Given the description of an element on the screen output the (x, y) to click on. 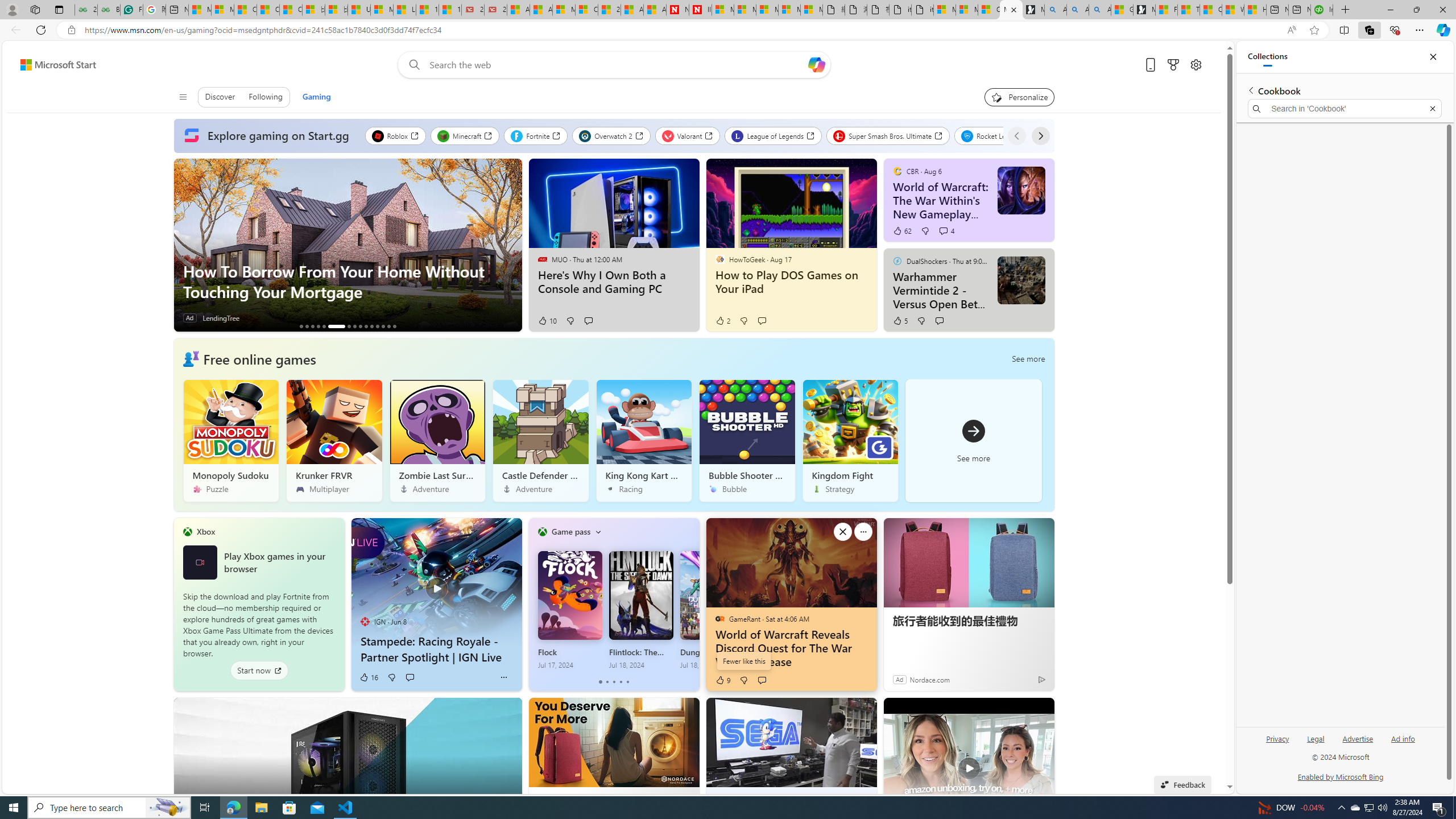
2 Like (722, 320)
Roblox (395, 135)
USA TODAY - MSN (359, 9)
Next slide (512, 245)
Intuit QuickBooks Online - Quickbooks (1322, 9)
Cloud Computing Services | Microsoft Azure (586, 9)
View comments 4 Comment (946, 230)
